Given the description of an element on the screen output the (x, y) to click on. 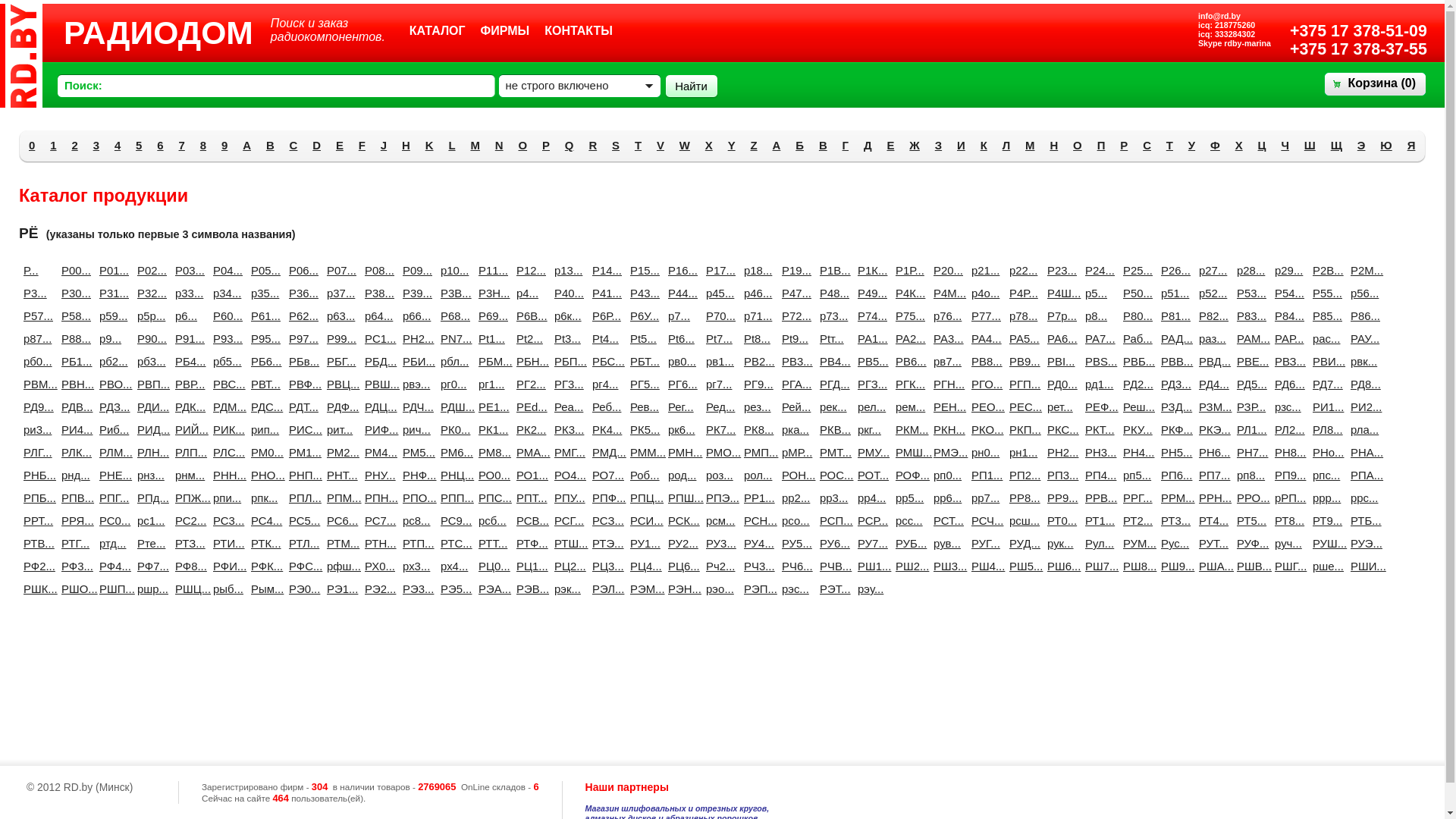
3 Element type: text (95, 145)
O Element type: text (522, 145)
4 Element type: text (117, 145)
F Element type: text (362, 145)
M Element type: text (474, 145)
9 Element type: text (224, 145)
X Element type: text (708, 145)
1 Element type: text (52, 145)
E Element type: text (339, 145)
7 Element type: text (181, 145)
V Element type: text (660, 145)
8 Element type: text (202, 145)
C Element type: text (293, 145)
H Element type: text (405, 145)
R Element type: text (592, 145)
Z Element type: text (754, 145)
P Element type: text (545, 145)
6 Element type: text (159, 145)
5 Element type: text (138, 145)
0 Element type: text (31, 145)
L Element type: text (451, 145)
K Element type: text (429, 145)
W Element type: text (684, 145)
J Element type: text (383, 145)
E Element type: text (890, 145)
S Element type: text (615, 145)
N Element type: text (499, 145)
B Element type: text (270, 145)
Y Element type: text (731, 145)
D Element type: text (316, 145)
A Element type: text (246, 145)
Q Element type: text (569, 145)
2 Element type: text (73, 145)
T Element type: text (638, 145)
